Given the description of an element on the screen output the (x, y) to click on. 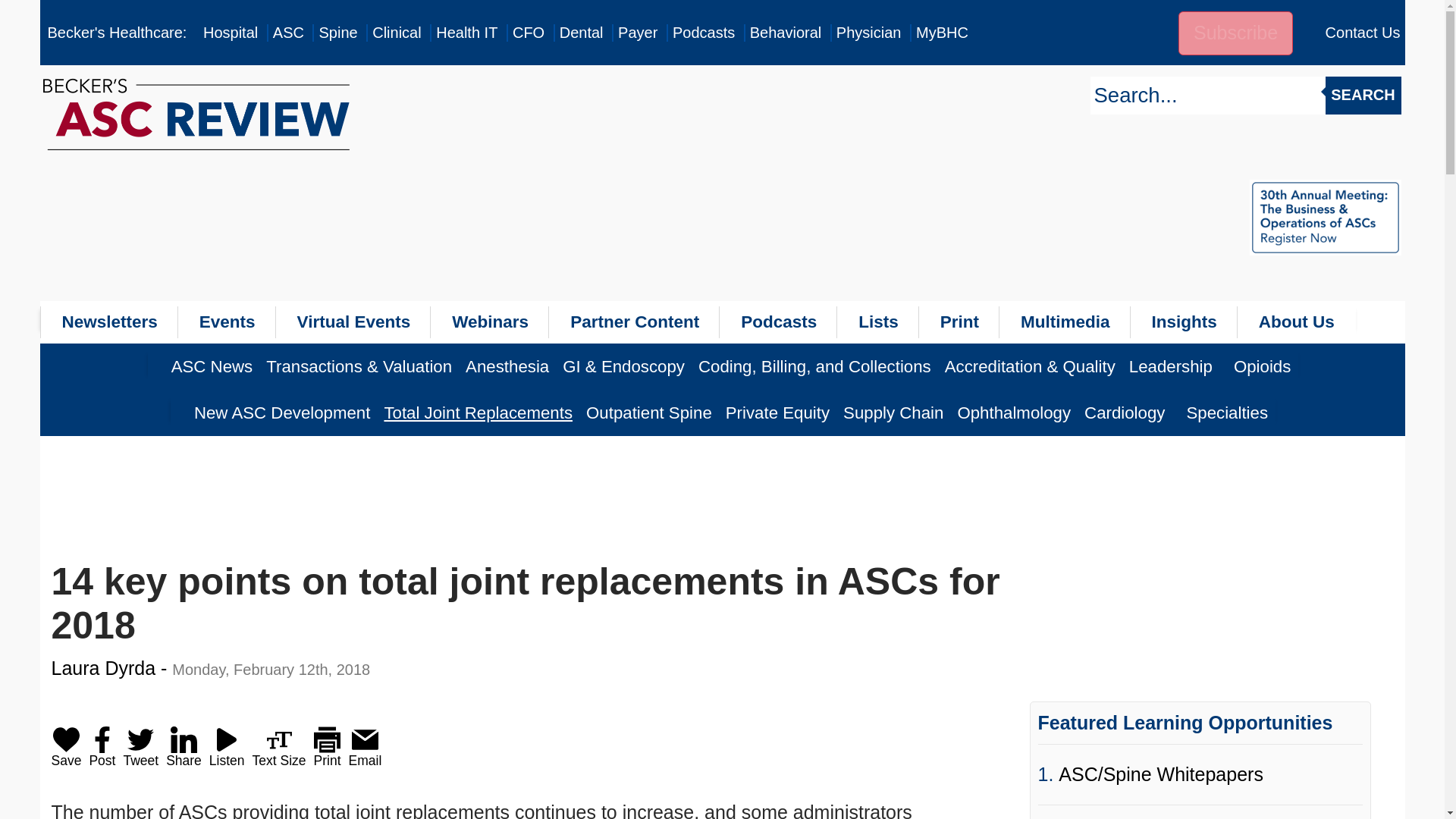
MyBHC (941, 32)
Physician (868, 32)
Spine (337, 32)
Becker's Payer Issues (637, 32)
Behavioral (785, 32)
Payer (637, 32)
Becker's Dental Review (581, 32)
Contact Us (1362, 32)
Hospital (230, 32)
Becker's ASC Review (288, 32)
